Given the description of an element on the screen output the (x, y) to click on. 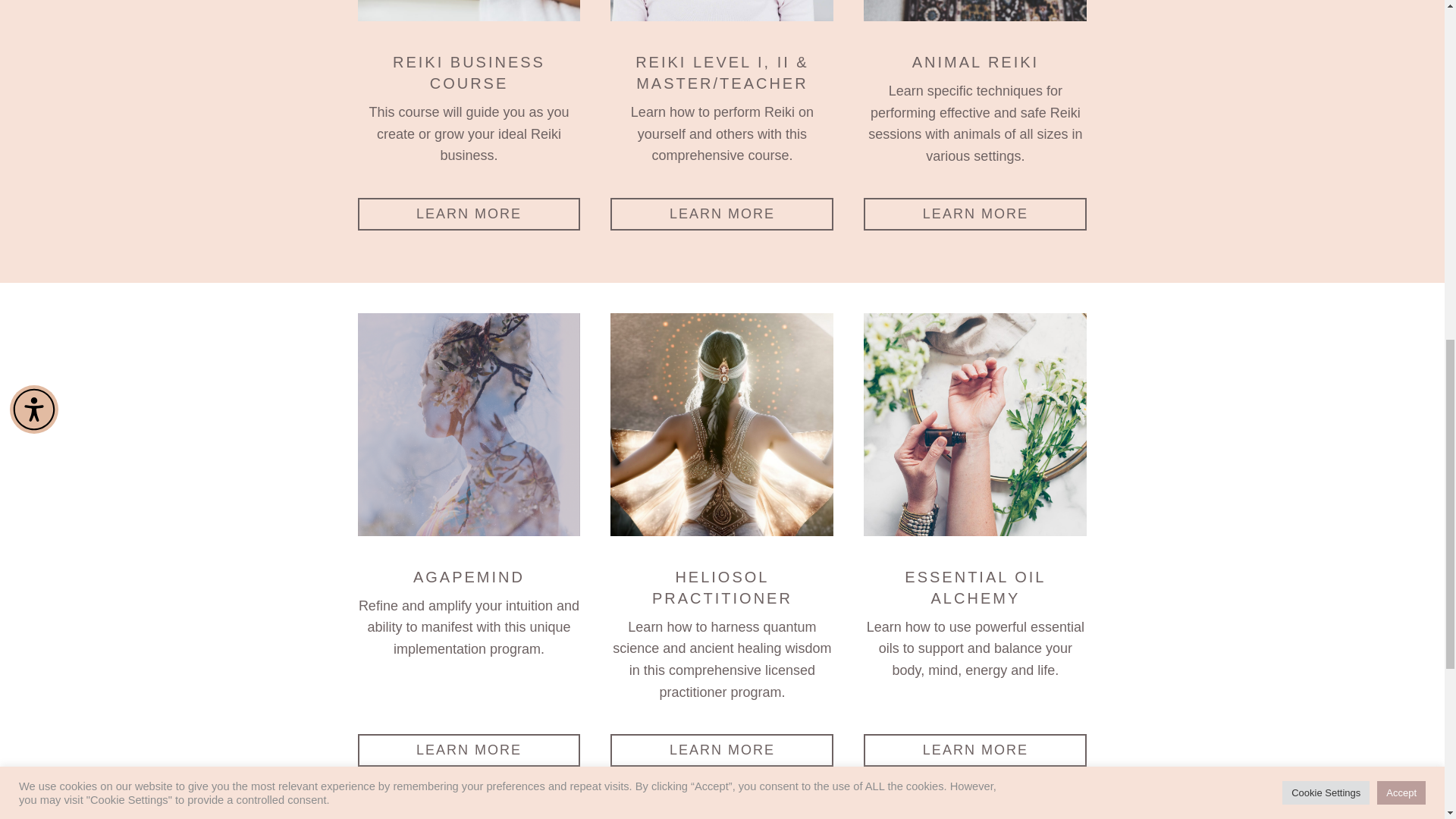
LEARN MORE (469, 749)
LEARN MORE (721, 749)
AGAPEMIND I'M IN (469, 424)
Animal-Reiki (974, 10)
HELIOSOL PRACTITIONER (721, 424)
LEARN MORE (974, 214)
LEARN MORE (721, 214)
Reiki Online Course to Balance (721, 10)
LEARN MORE (469, 214)
essential oil course (974, 424)
LEARN MORE (974, 749)
